Given the description of an element on the screen output the (x, y) to click on. 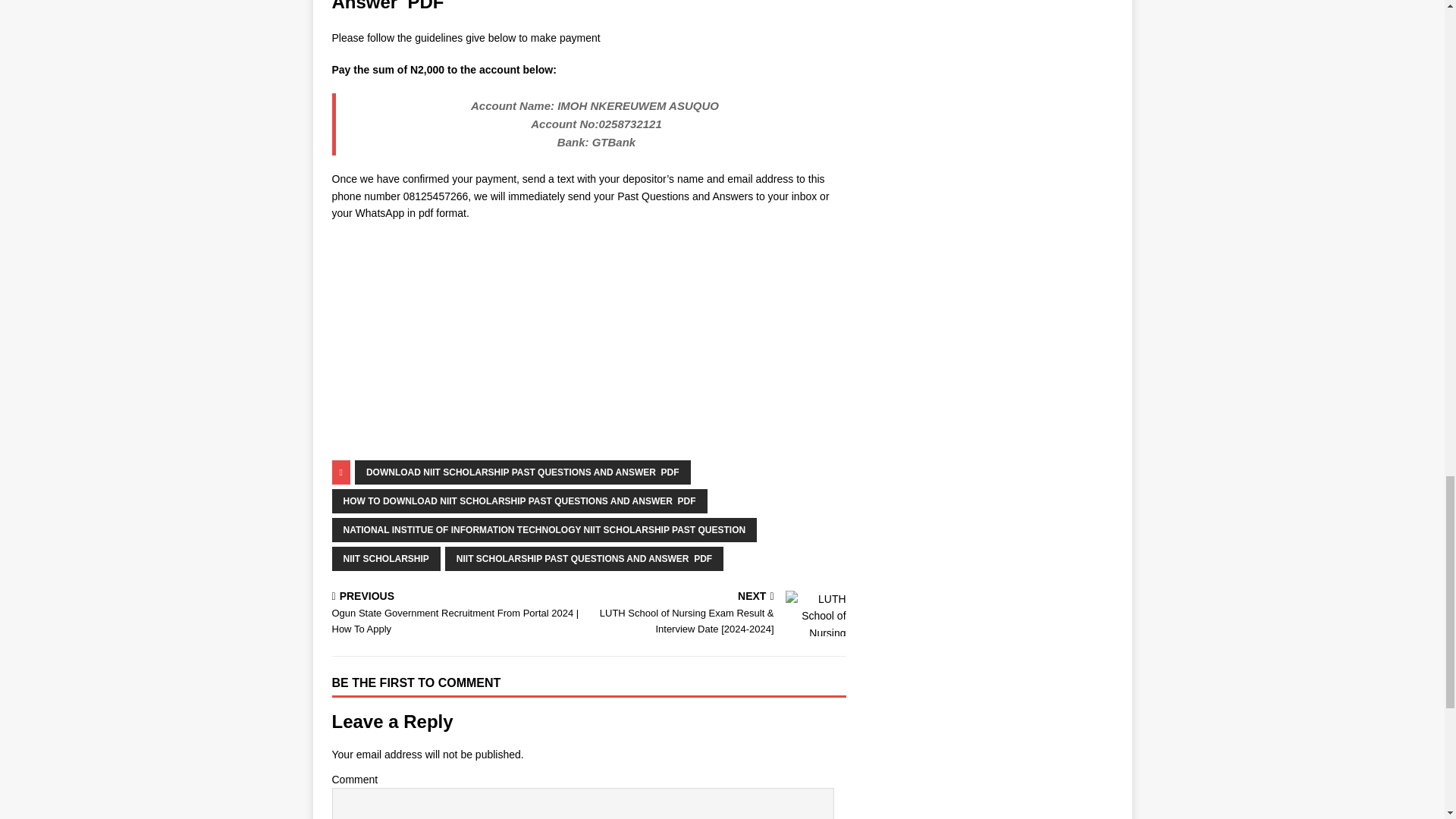
NIIT SCHOLARSHIP (386, 558)
NIIT SCHOLARSHIP PAST QUESTIONS AND ANSWER  PDF (584, 558)
DOWNLOAD NIIT SCHOLARSHIP PAST QUESTIONS AND ANSWER  PDF (522, 472)
